Given the description of an element on the screen output the (x, y) to click on. 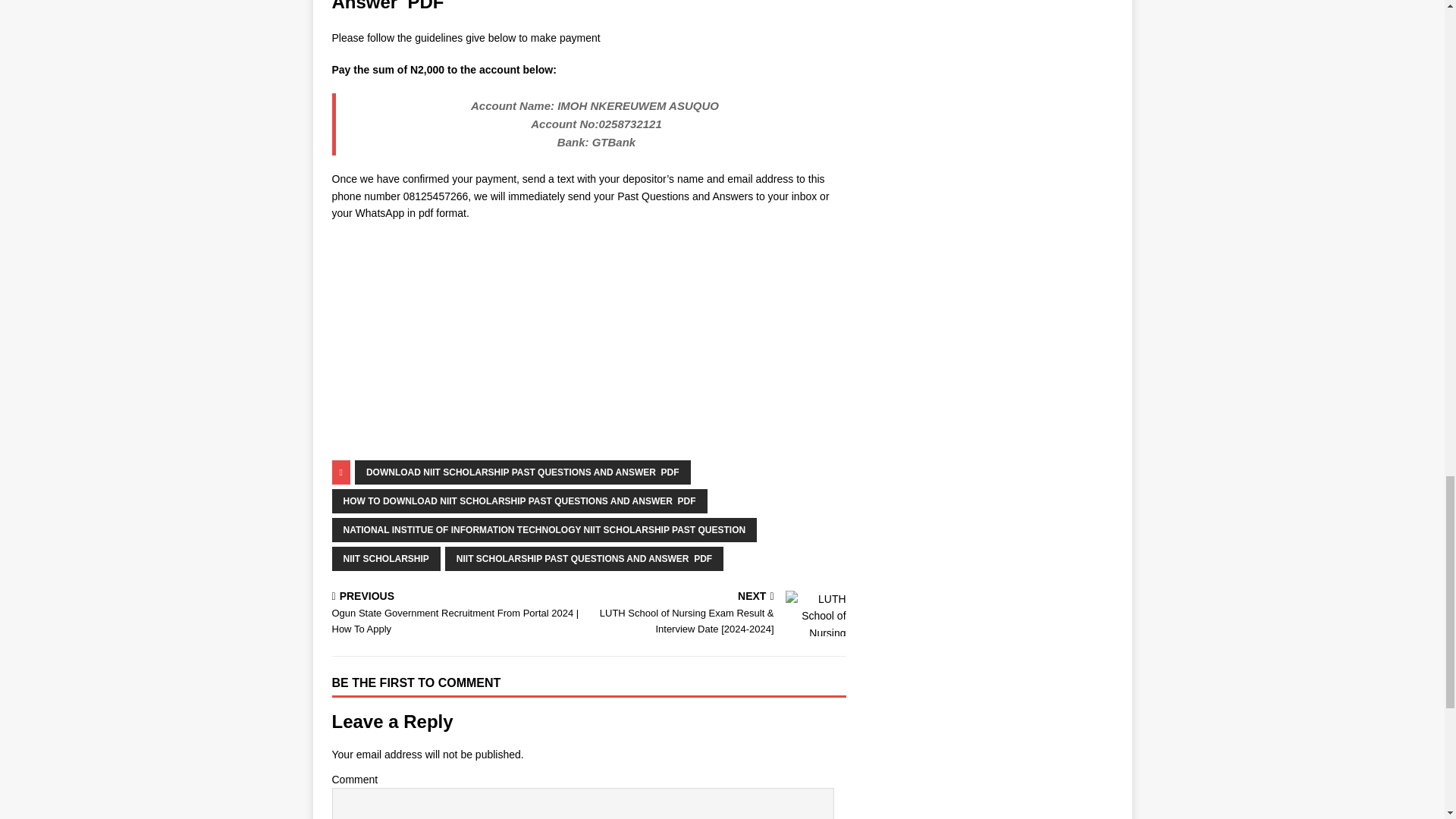
NIIT SCHOLARSHIP (386, 558)
NIIT SCHOLARSHIP PAST QUESTIONS AND ANSWER  PDF (584, 558)
DOWNLOAD NIIT SCHOLARSHIP PAST QUESTIONS AND ANSWER  PDF (522, 472)
